Given the description of an element on the screen output the (x, y) to click on. 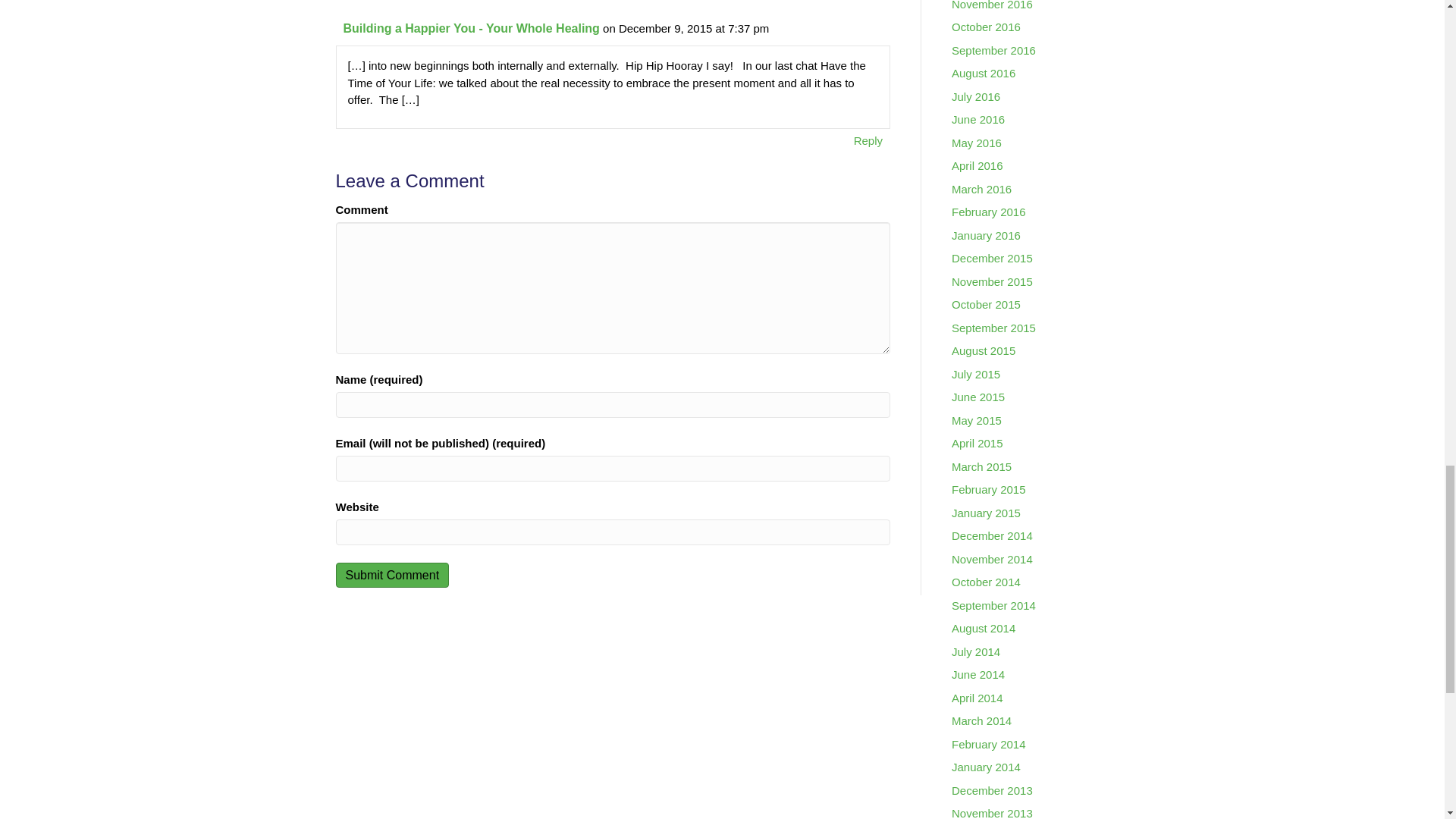
Submit Comment (391, 575)
Reply (868, 140)
Building a Happier You - Your Whole Healing (470, 28)
Submit Comment (391, 575)
